Given the description of an element on the screen output the (x, y) to click on. 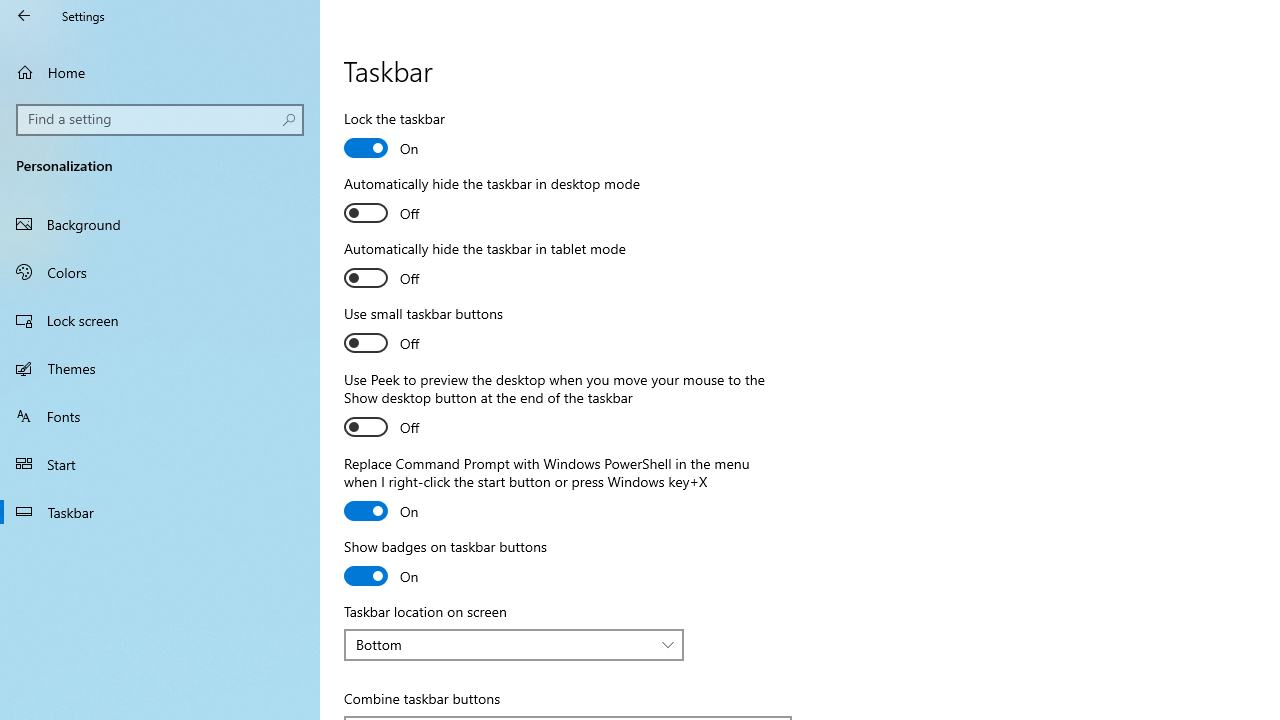
Use small taskbar buttons (423, 331)
Automatically hide the taskbar in desktop mode (492, 201)
Back (24, 15)
Show badges on taskbar buttons (445, 564)
Lock screen (160, 319)
Automatically hide the taskbar in tablet mode (484, 266)
Bottom (503, 644)
Search box, Find a setting (160, 119)
Background (160, 223)
Themes (160, 367)
Taskbar location on screen (513, 644)
Home (160, 71)
Lock the taskbar (417, 136)
